Given the description of an element on the screen output the (x, y) to click on. 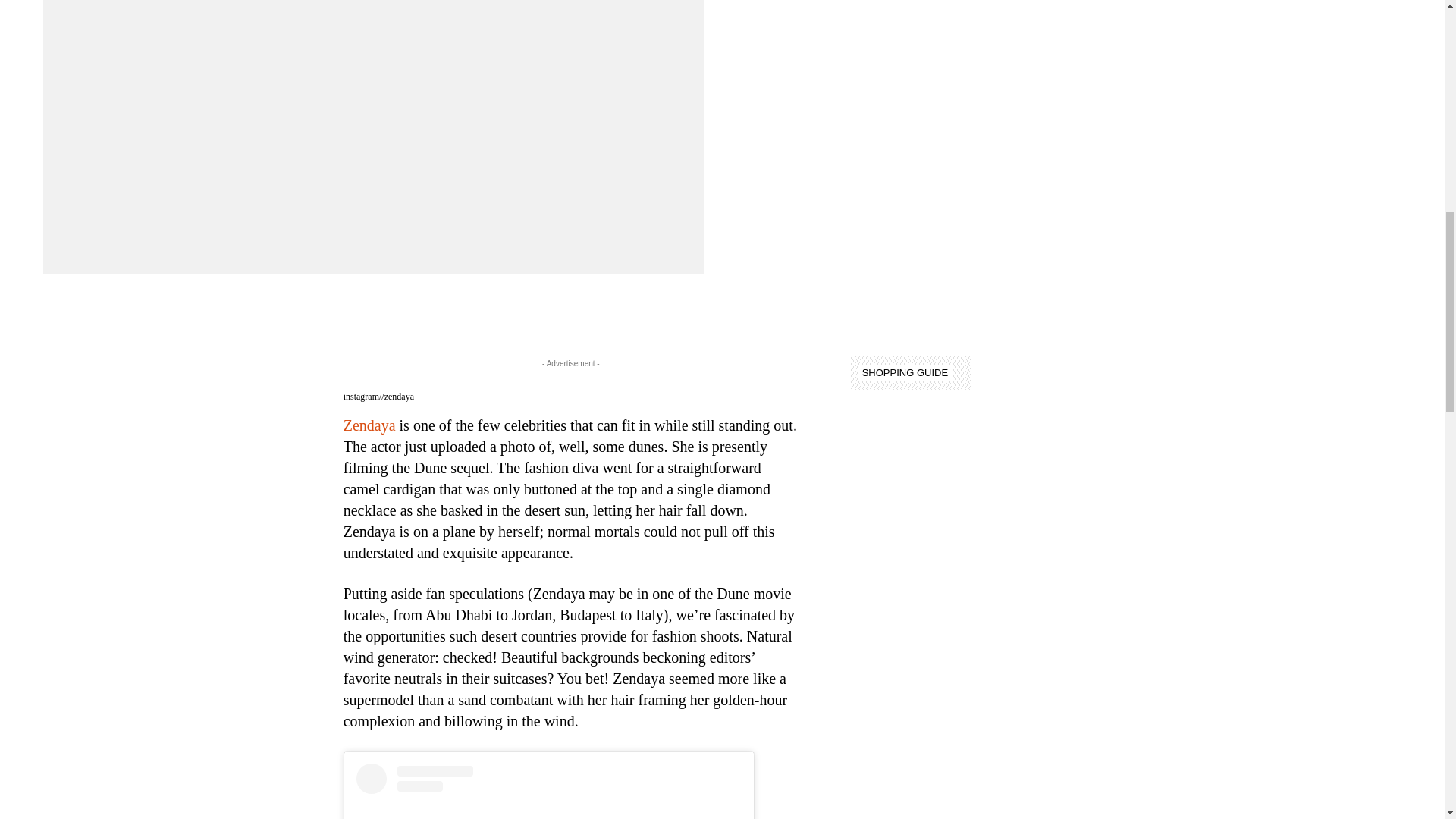
SHOPPING GUIDE (905, 372)
Zendaya (369, 425)
View this post on Instagram (548, 791)
